Given the description of an element on the screen output the (x, y) to click on. 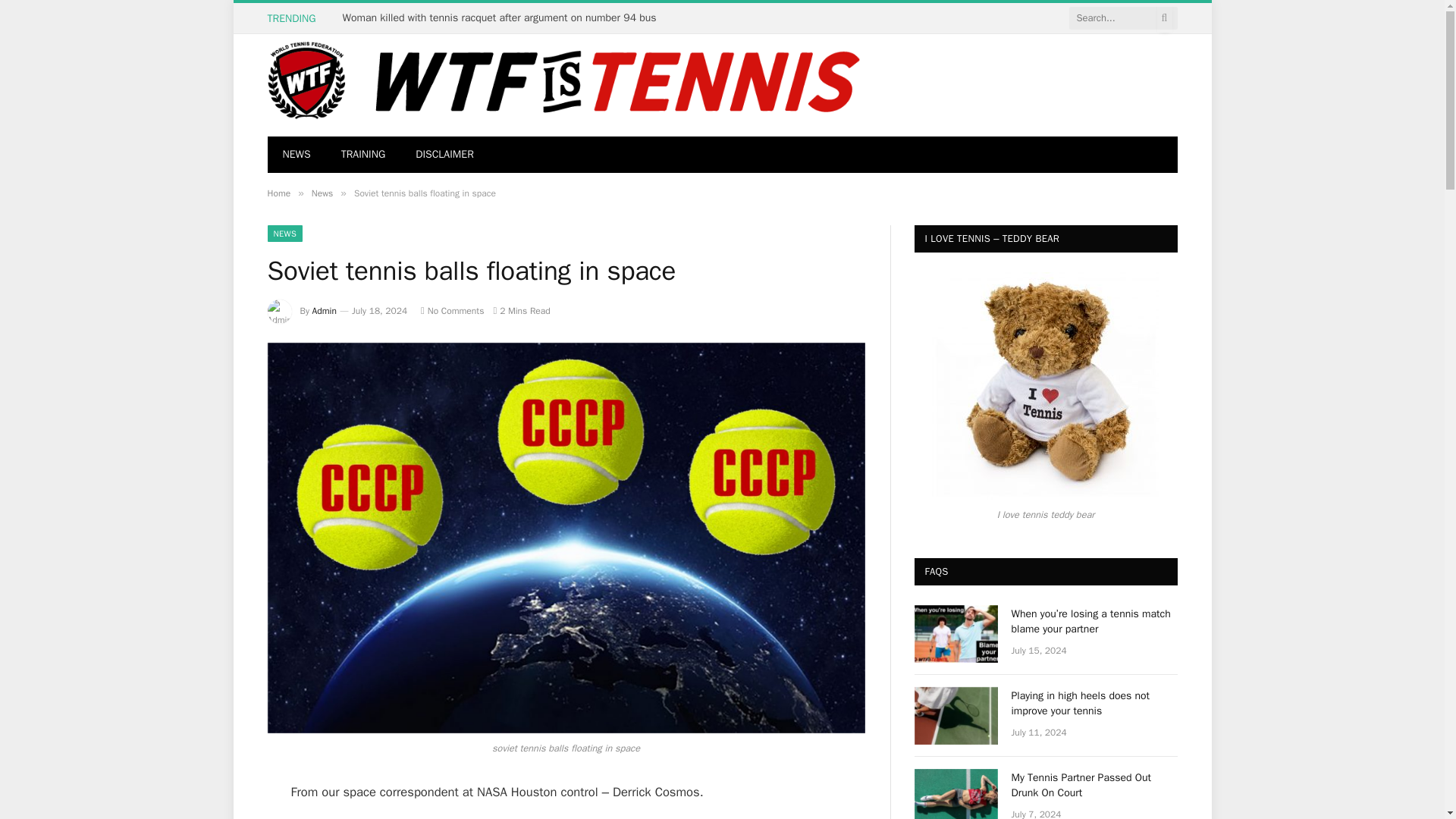
TRAINING (363, 154)
No Comments (451, 310)
DISCLAIMER (444, 154)
Playing in high heels does not improve your tennis (955, 715)
Home (277, 193)
News (322, 193)
NEWS (295, 154)
Admin (324, 310)
World Tennis Federation (567, 85)
NEWS (284, 233)
Posts by Admin (324, 310)
